Given the description of an element on the screen output the (x, y) to click on. 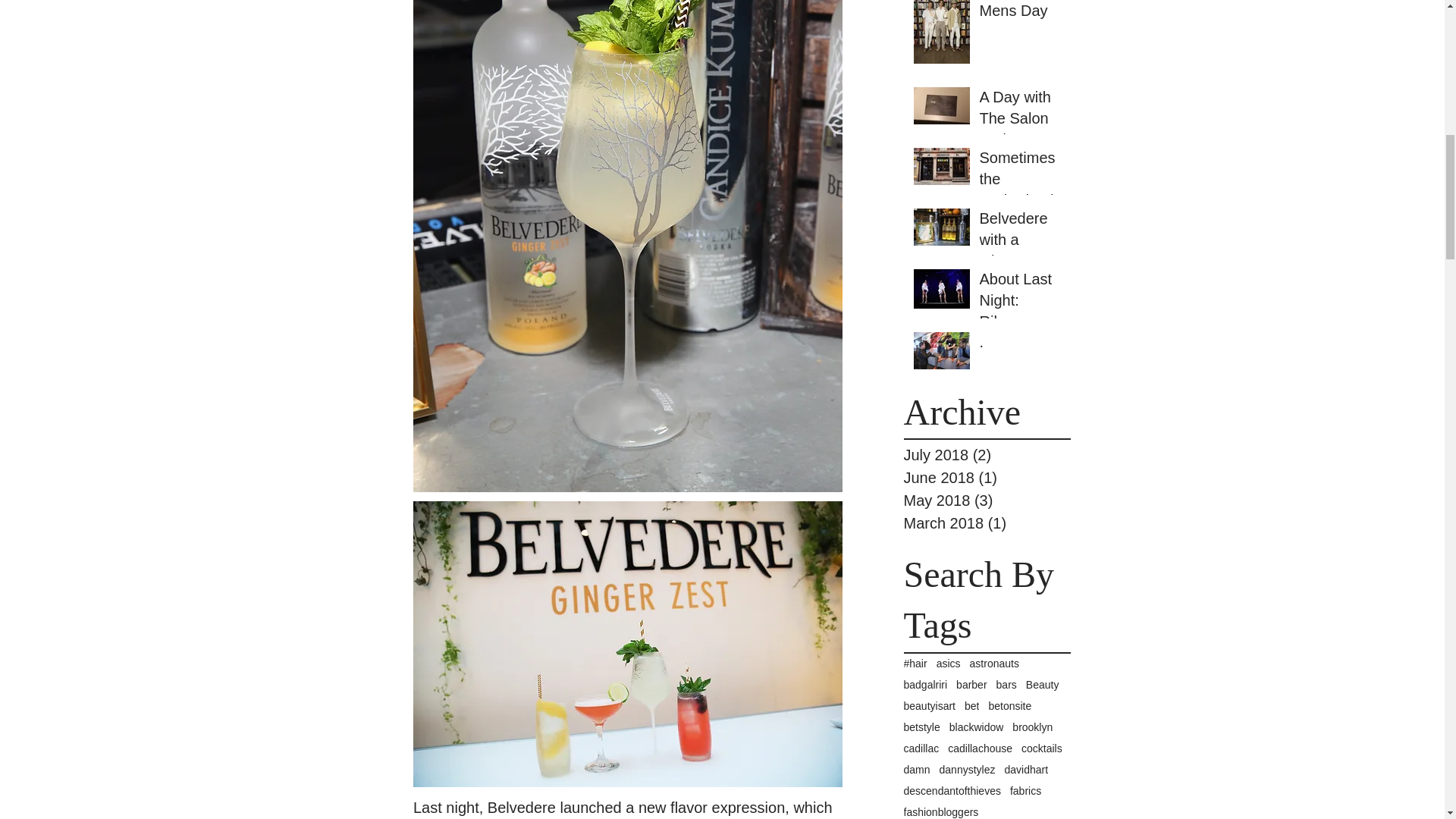
brooklyn (1031, 727)
cadillac (921, 748)
bet (970, 705)
cadillachouse (979, 748)
A Day with The Salon Project (1020, 121)
dannystylez (967, 769)
Belvedere with a Ginger Twist (1020, 253)
barber (971, 684)
asics (948, 663)
. (1020, 344)
